Given the description of an element on the screen output the (x, y) to click on. 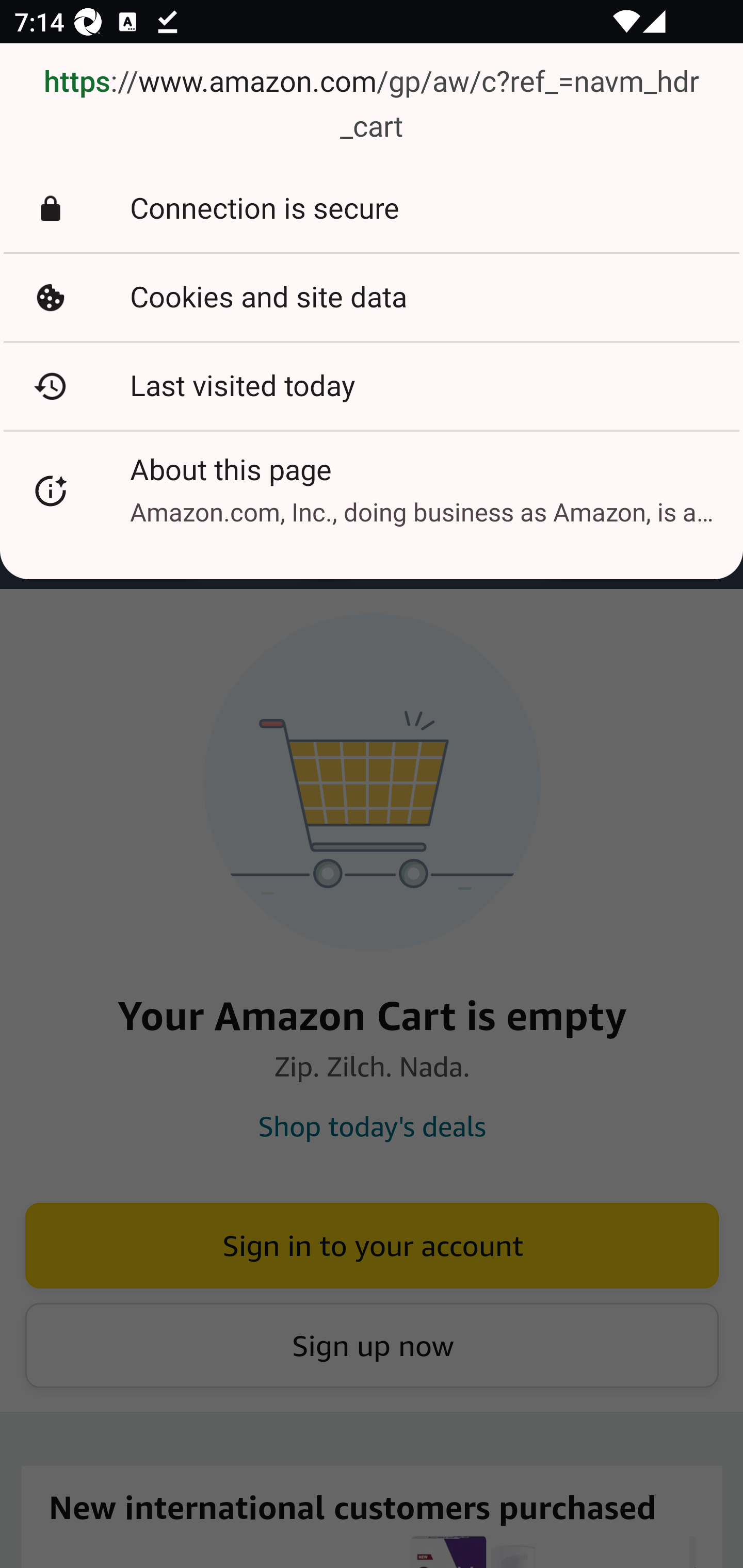
https://www.amazon.com/gp/aw/c?ref_=navm_hdr_cart (371, 104)
Connection is secure (371, 209)
Cookies and site data (371, 297)
Last visited today (371, 386)
